Given the description of an element on the screen output the (x, y) to click on. 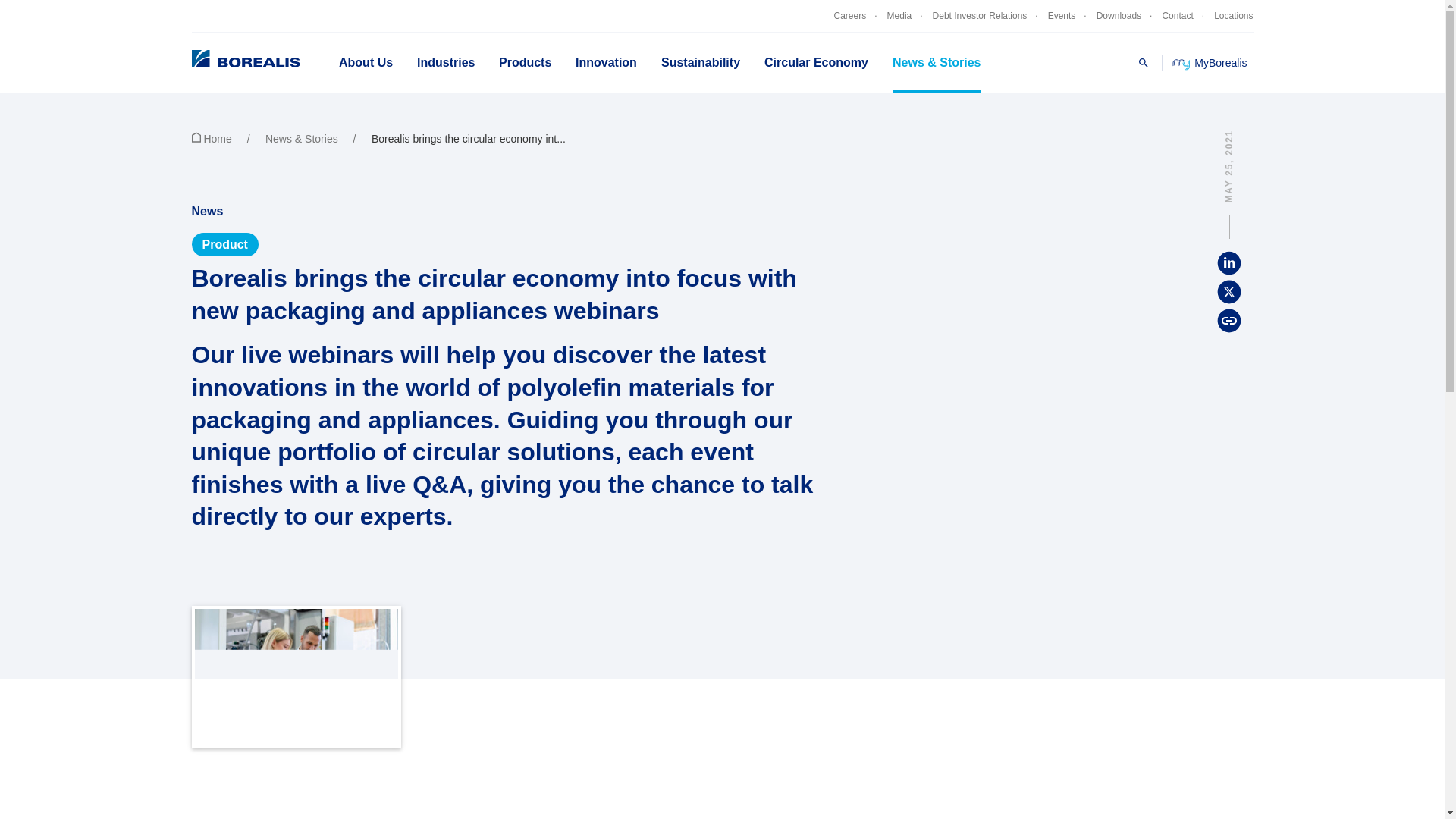
Events (1059, 15)
Innovation (606, 62)
Borealis - Life demands progress (225, 61)
Copy this URL (1227, 320)
Debt Investor Relations (977, 15)
MyBorealis (1210, 61)
Media (897, 15)
About Us (365, 62)
Home (226, 138)
Locations (1227, 15)
